Given the description of an element on the screen output the (x, y) to click on. 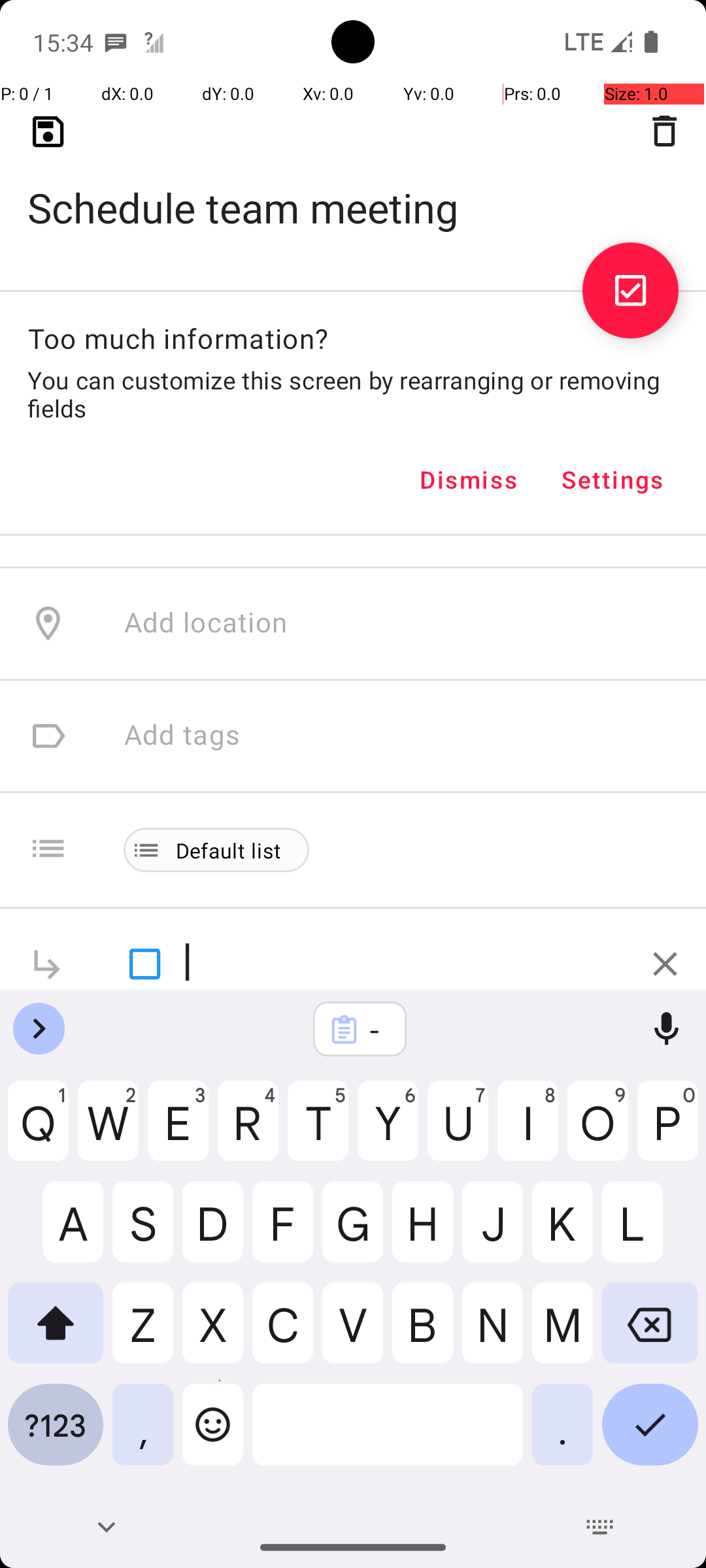
Schedule team meeting Element type: android.widget.EditText (353, 186)
Saturday, October 28 Element type: android.widget.TextView (258, 284)
